Given the description of an element on the screen output the (x, y) to click on. 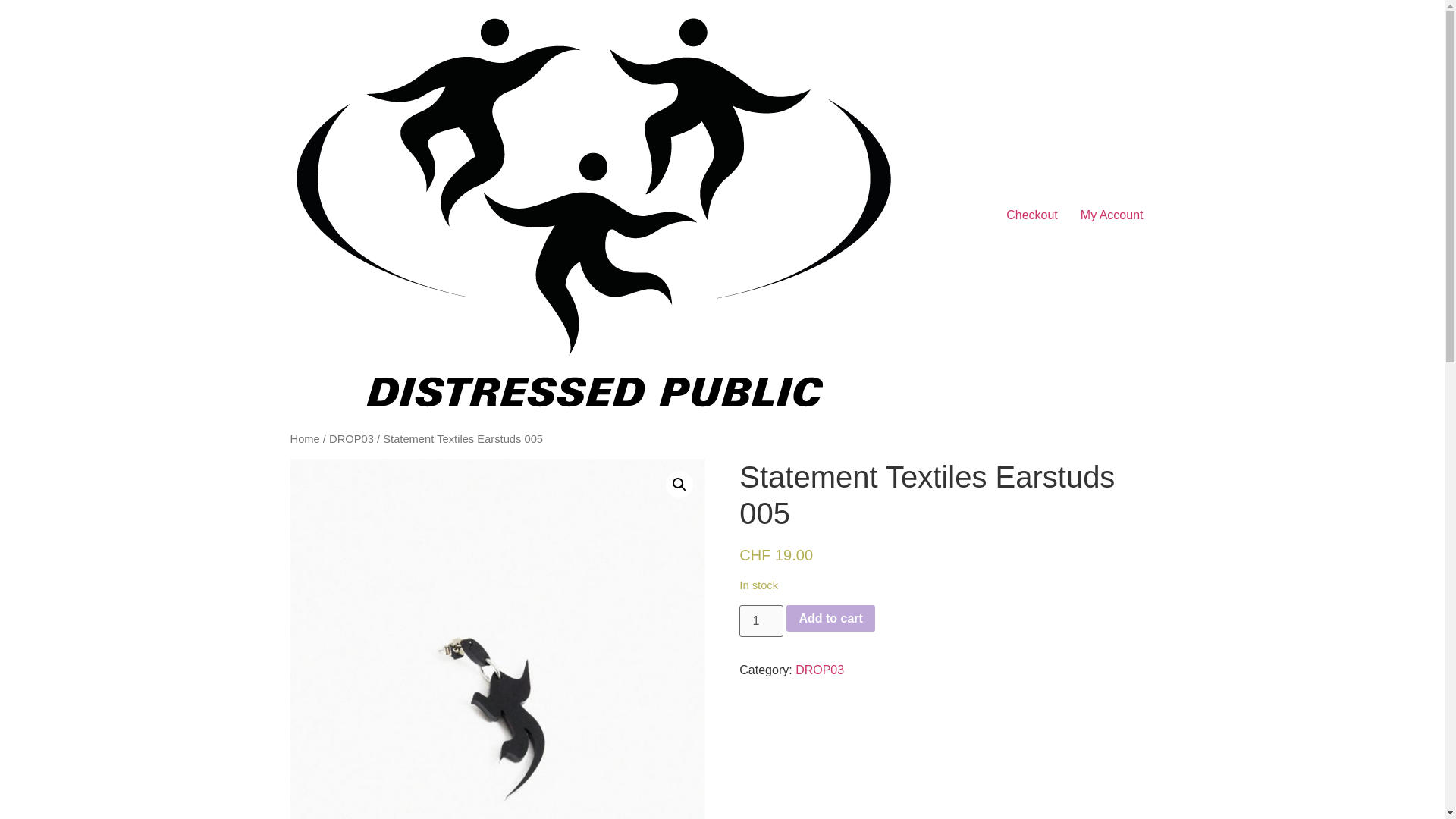
Checkout (1031, 214)
1 (761, 621)
Add to cart (830, 618)
DROP03 (819, 669)
My Account (1111, 214)
DROP03 (351, 439)
Home (303, 439)
